Given the description of an element on the screen output the (x, y) to click on. 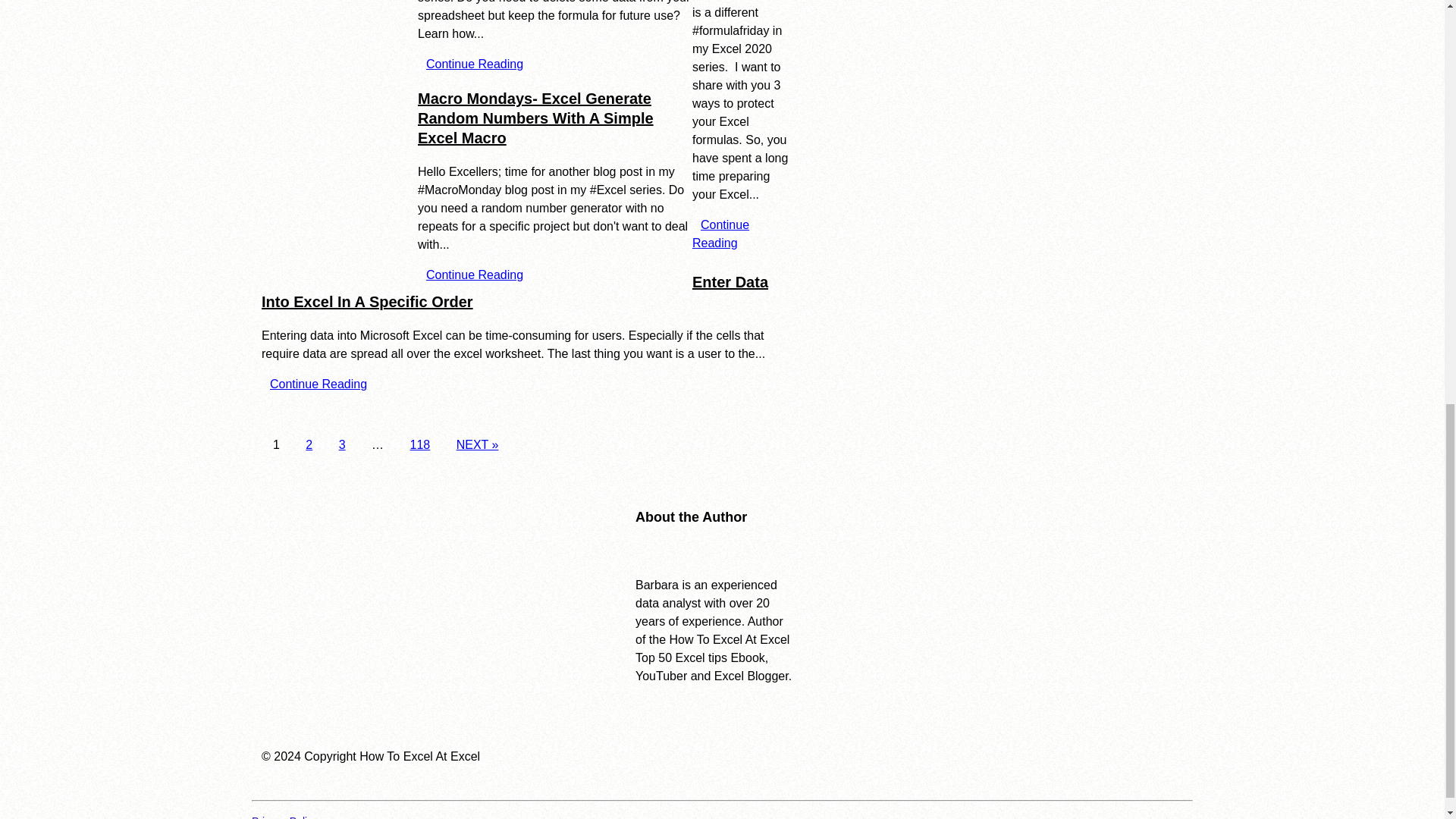
Continue Reading (318, 383)
Continue Reading (474, 274)
Continue Reading (721, 233)
Enter Data Into Excel In A Specific Order (515, 291)
Continue Reading (474, 64)
